Given the description of an element on the screen output the (x, y) to click on. 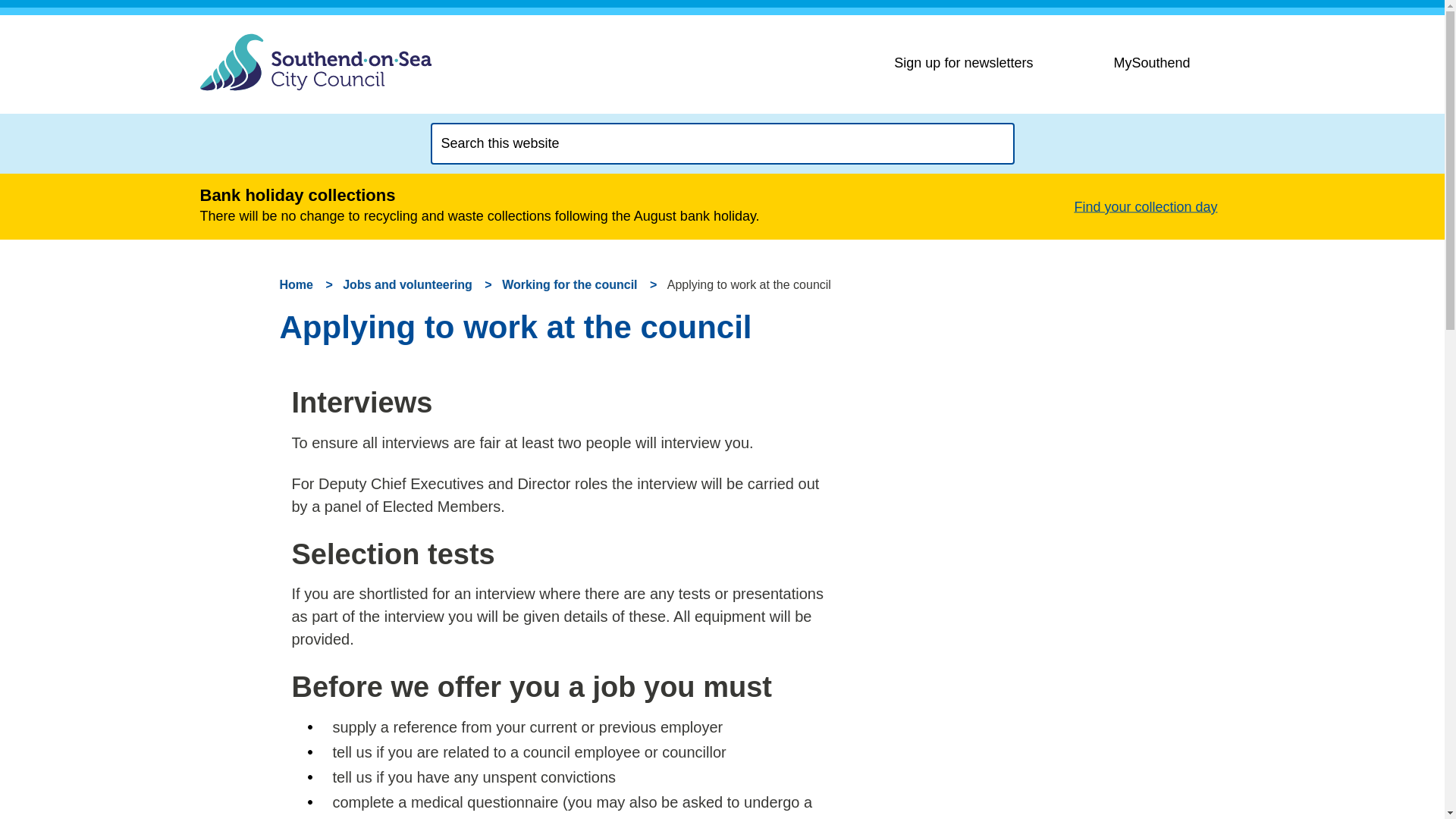
Sign up for newsletters (989, 62)
MySouthend (1167, 62)
Home (296, 285)
Find your collection day (1149, 206)
Working for the council (569, 285)
Search (986, 143)
Jobs and volunteering (406, 285)
